Given the description of an element on the screen output the (x, y) to click on. 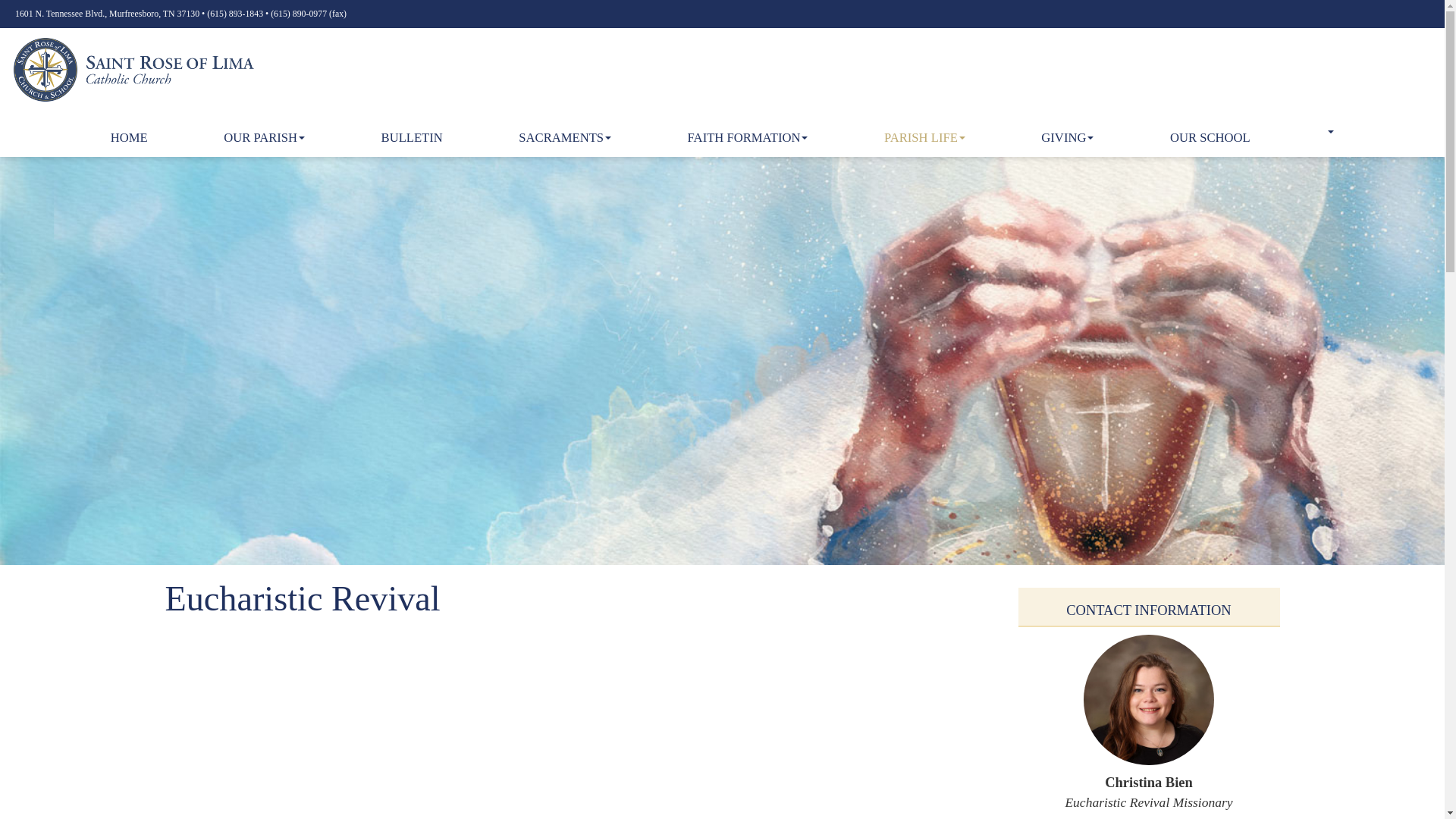
BULLETIN (411, 137)
FAITH FORMATION (747, 137)
SACRAMENTS (564, 137)
OUR PARISH (264, 137)
HOME (129, 137)
